Given the description of an element on the screen output the (x, y) to click on. 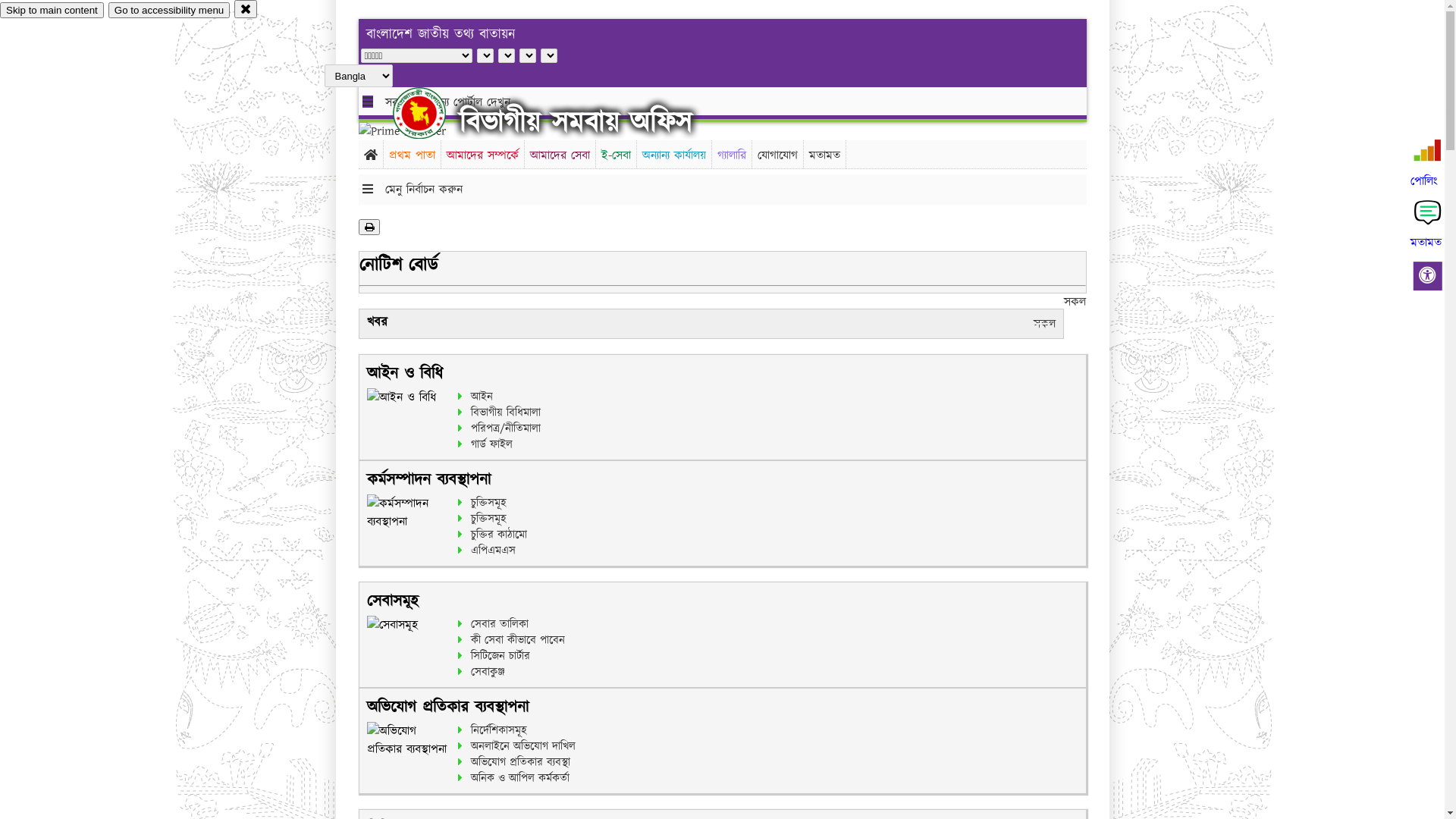
Skip to main content Element type: text (51, 10)
Go to accessibility menu Element type: text (168, 10)
close Element type: hover (245, 9)

                
             Element type: hover (431, 112)
